Given the description of an element on the screen output the (x, y) to click on. 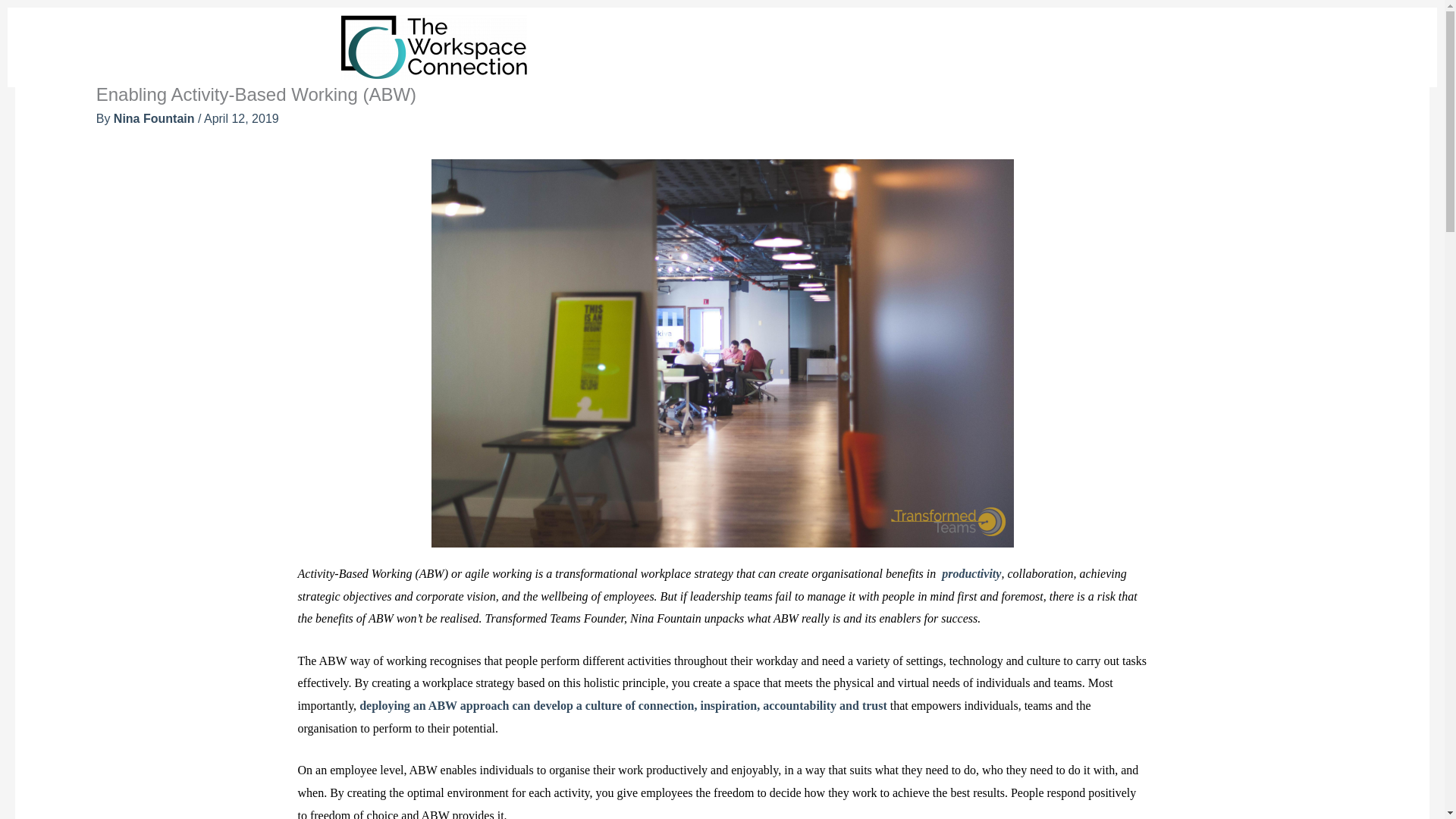
productivity (971, 573)
View all posts by Nina Fountain (155, 118)
cropped-The-Workspace-Connection-Logo-Full-Colour.png (433, 47)
Nina Fountain (155, 118)
